Given the description of an element on the screen output the (x, y) to click on. 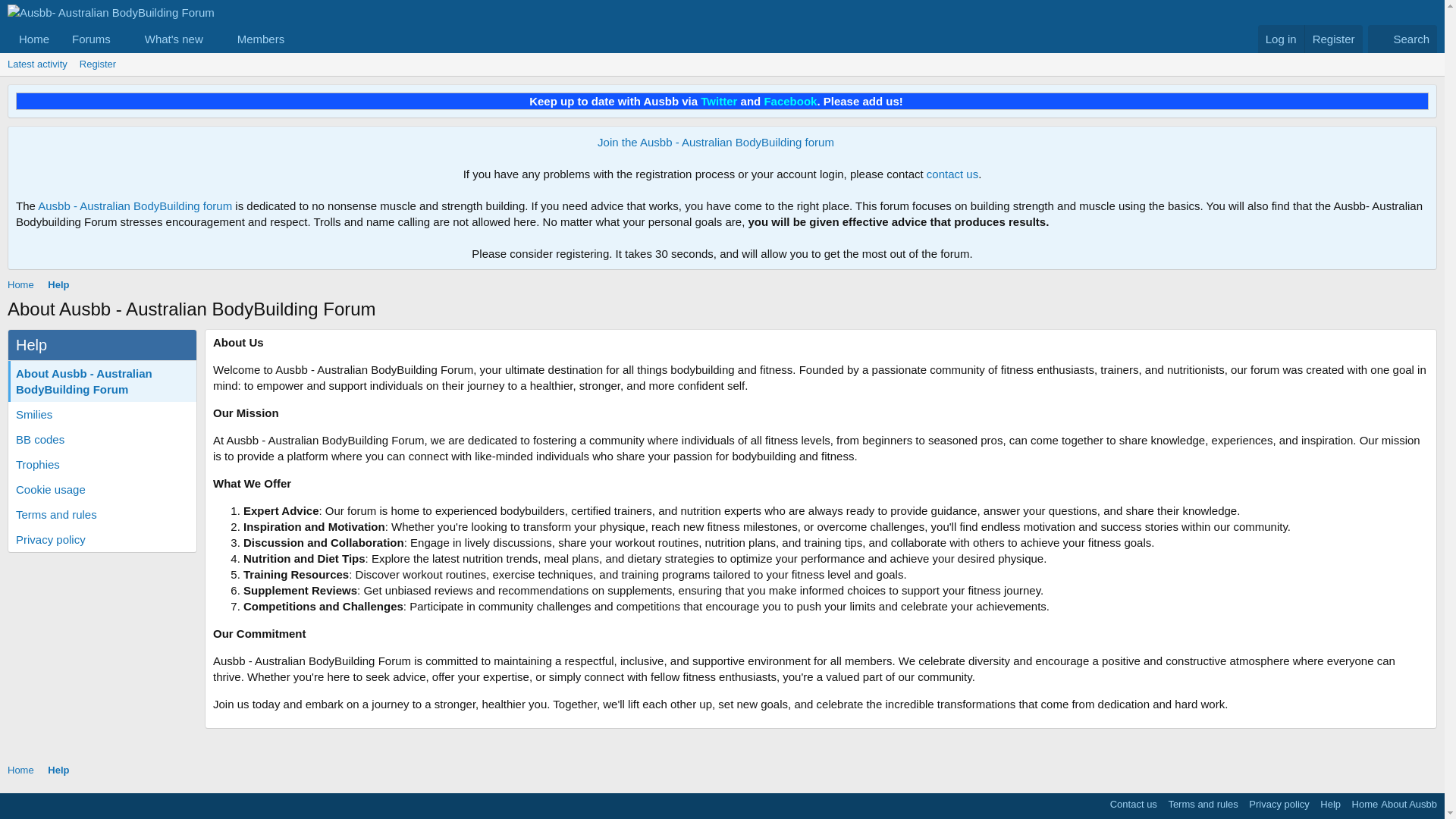
What's new (169, 39)
Facebook (789, 101)
Members (255, 39)
Latest activity (37, 64)
Register (1333, 39)
Register (157, 39)
Search (98, 64)
